Given the description of an element on the screen output the (x, y) to click on. 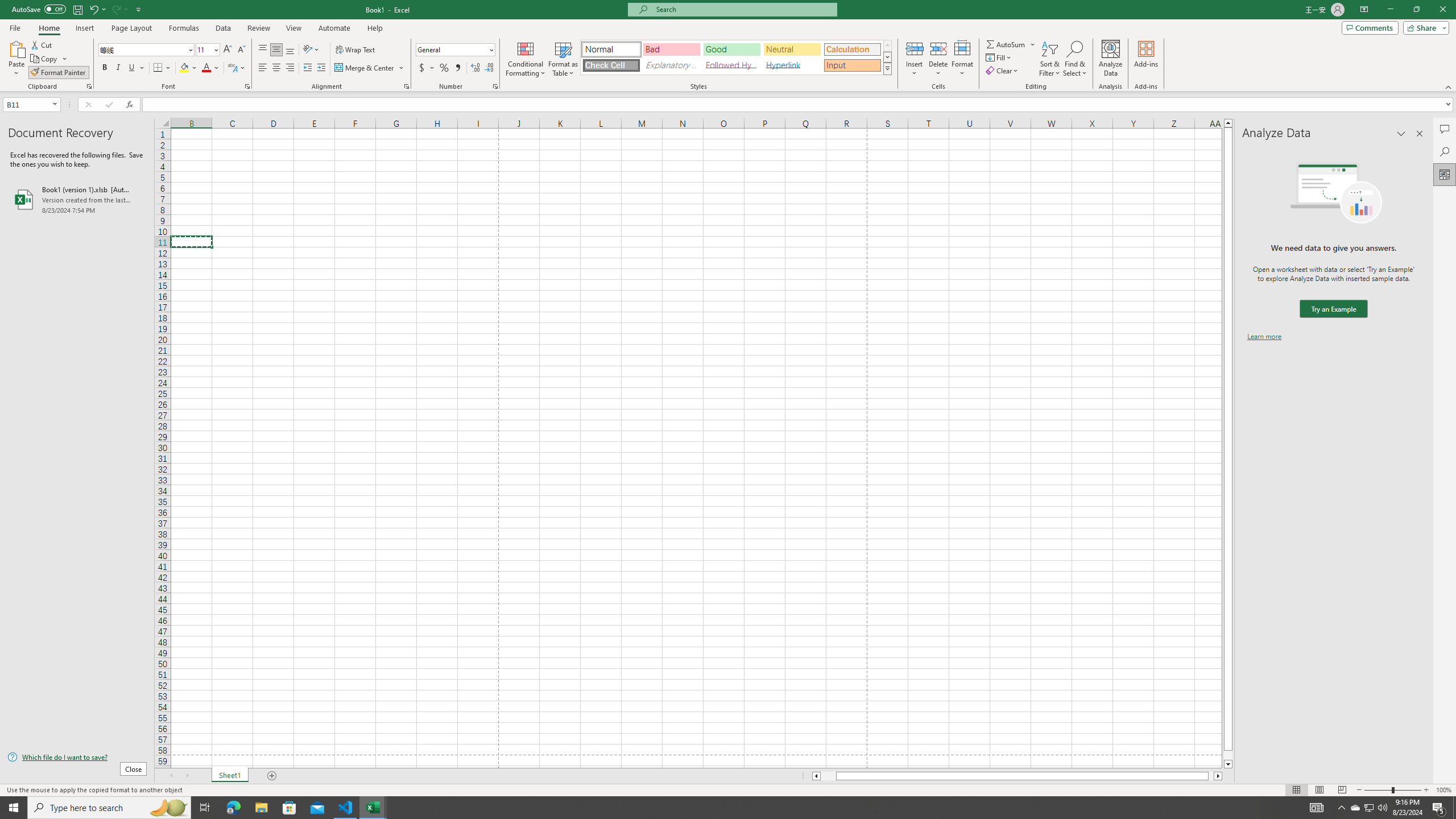
Borders (162, 67)
Bottom Align (290, 49)
Increase Indent (320, 67)
Font Size (204, 49)
Conditional Formatting (525, 58)
Middle Align (276, 49)
Sum (1006, 44)
